Given the description of an element on the screen output the (x, y) to click on. 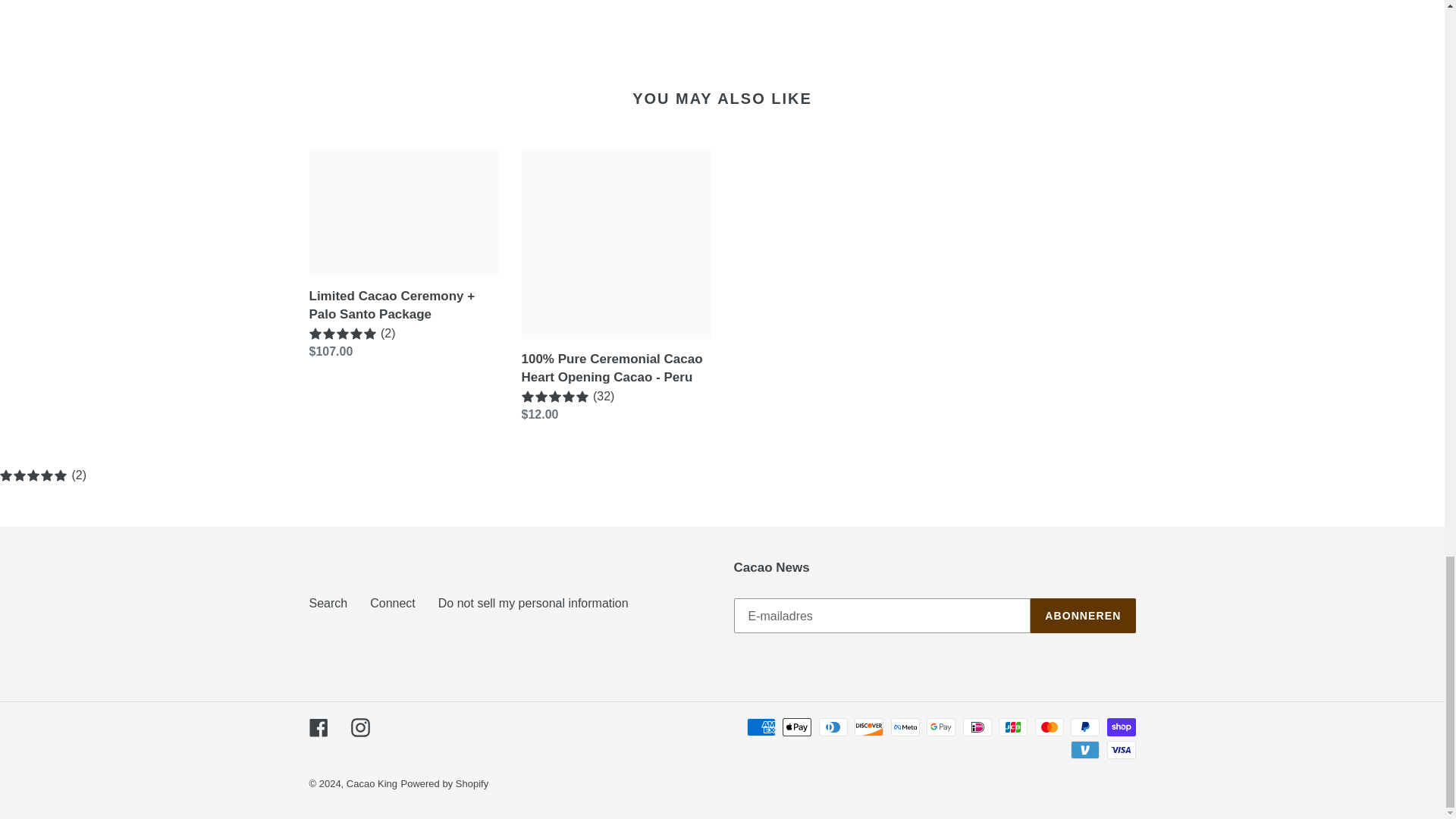
Product reviews widget (721, 23)
Connect (391, 603)
Search (327, 603)
